Given the description of an element on the screen output the (x, y) to click on. 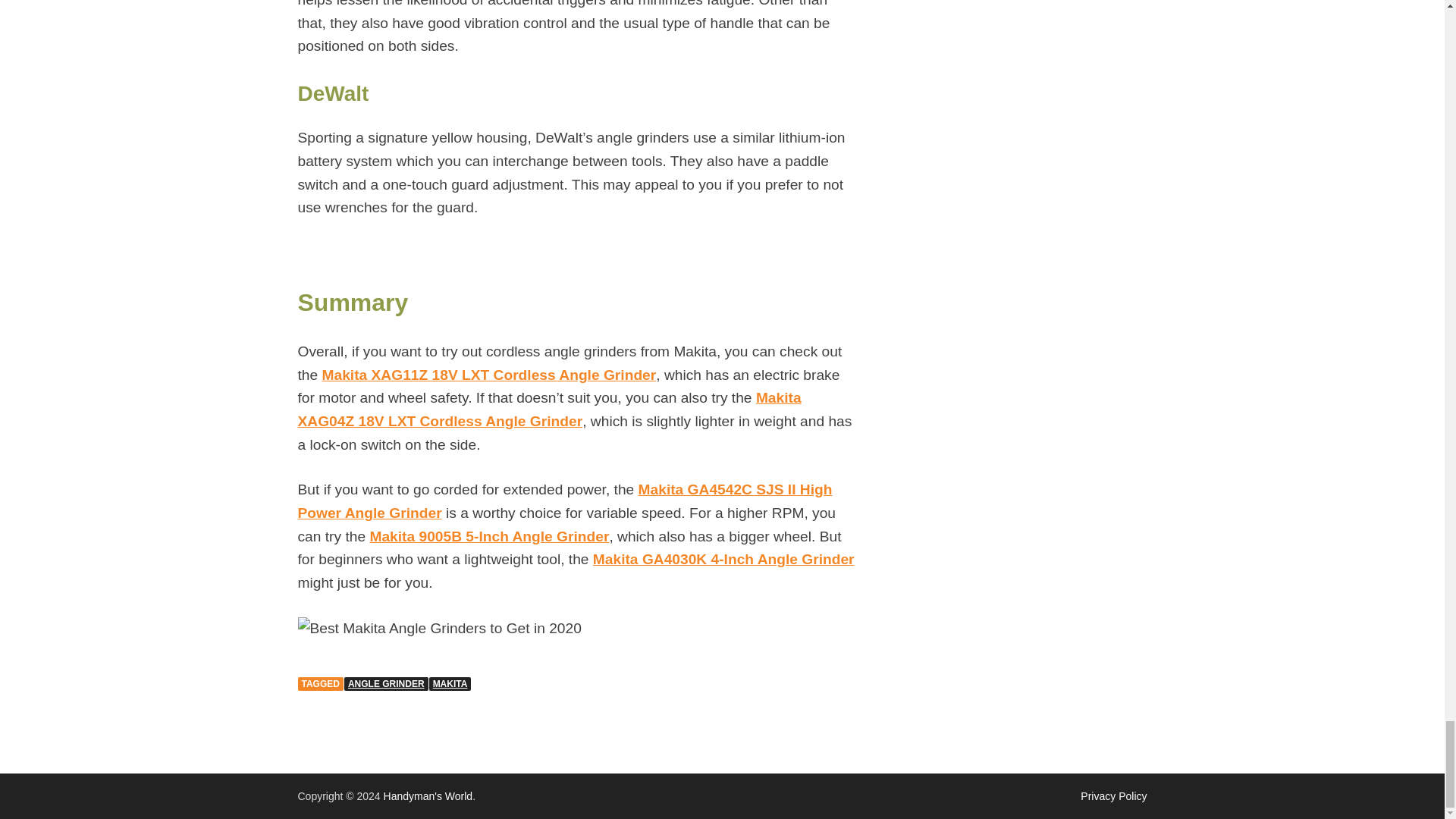
Handyman's World (428, 796)
Best Makita Angle Grinders to Get in 2020 (438, 628)
HitMag WordPress Theme (1113, 796)
